Given the description of an element on the screen output the (x, y) to click on. 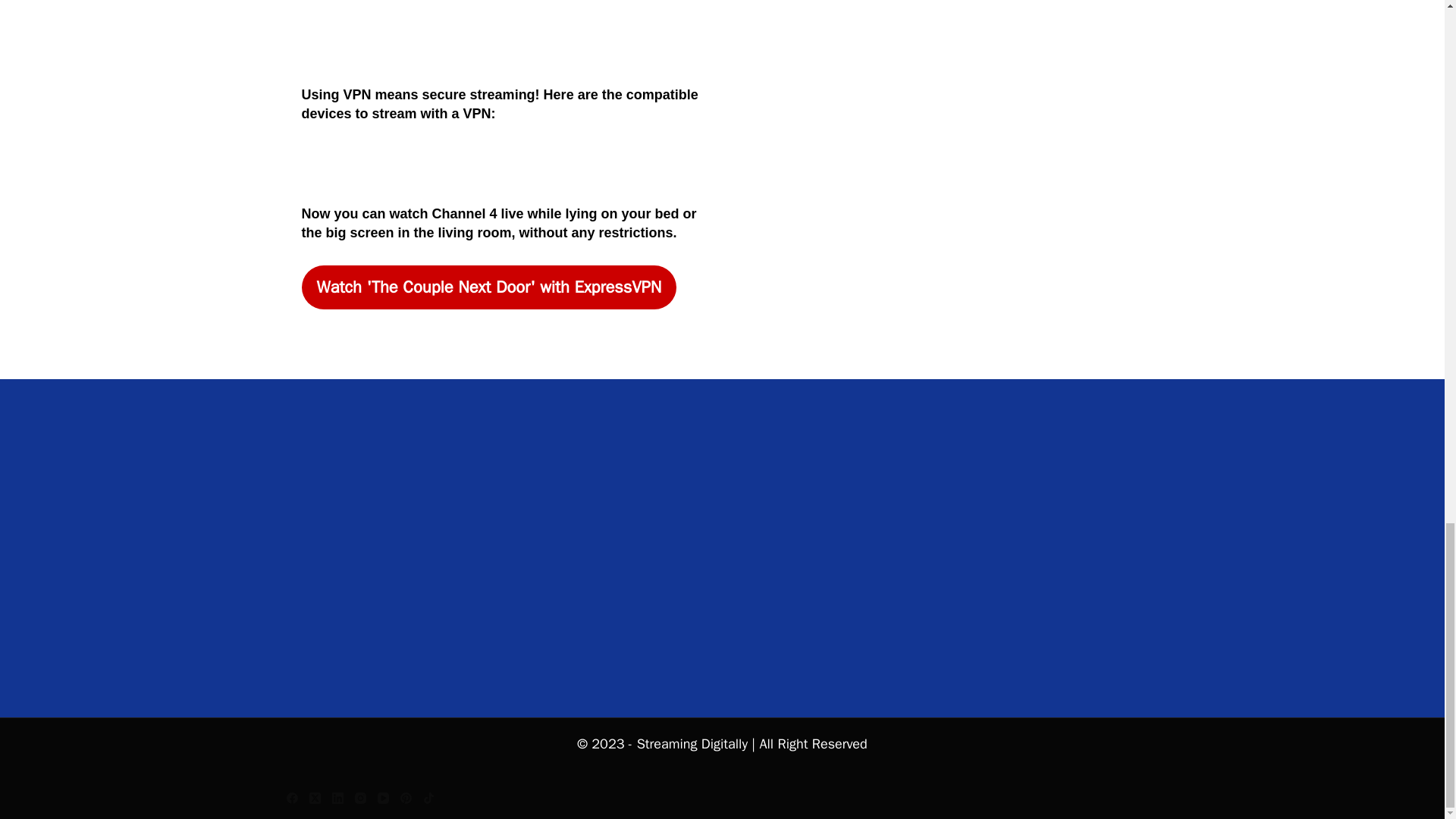
Watch 'The Couple Next Door' with ExpressVPN (489, 287)
EXPRESSVPN (489, 287)
